Given the description of an element on the screen output the (x, y) to click on. 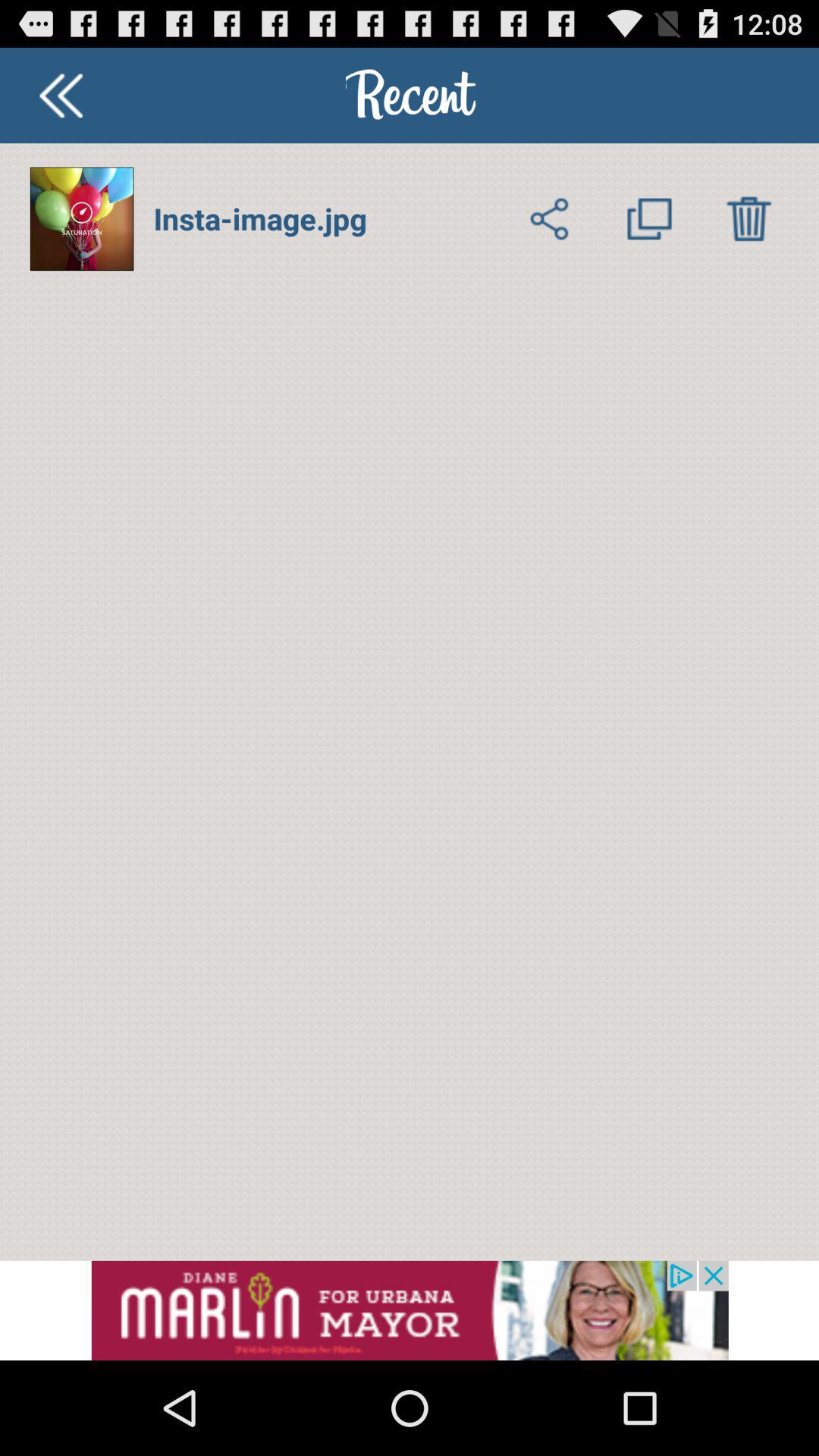
go back (61, 95)
